Given the description of an element on the screen output the (x, y) to click on. 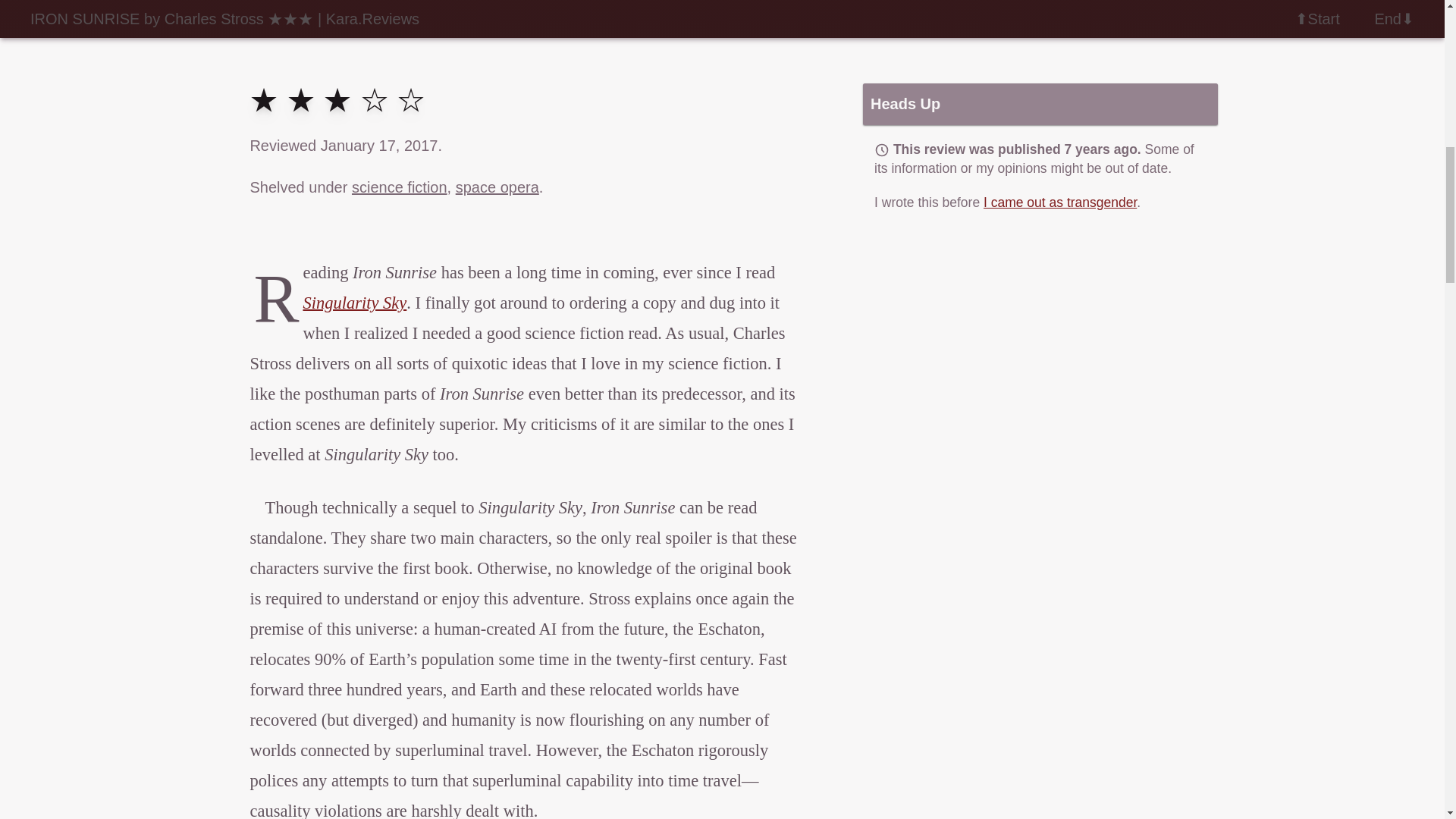
science fiction (399, 187)
Singularity Sky (354, 302)
I came out as transgender (1060, 201)
space opera (496, 187)
